Given the description of an element on the screen output the (x, y) to click on. 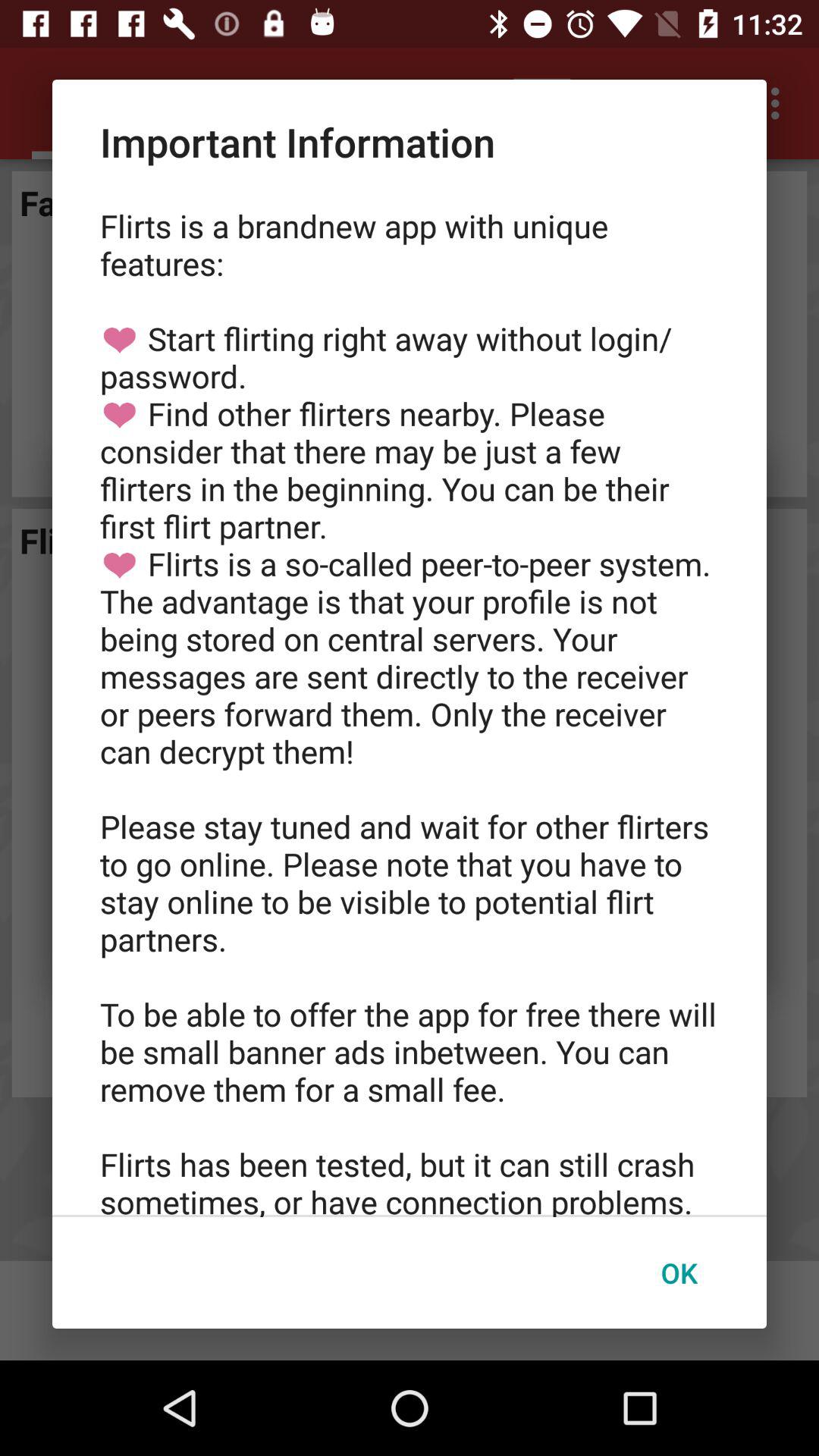
choose ok button (678, 1272)
